Given the description of an element on the screen output the (x, y) to click on. 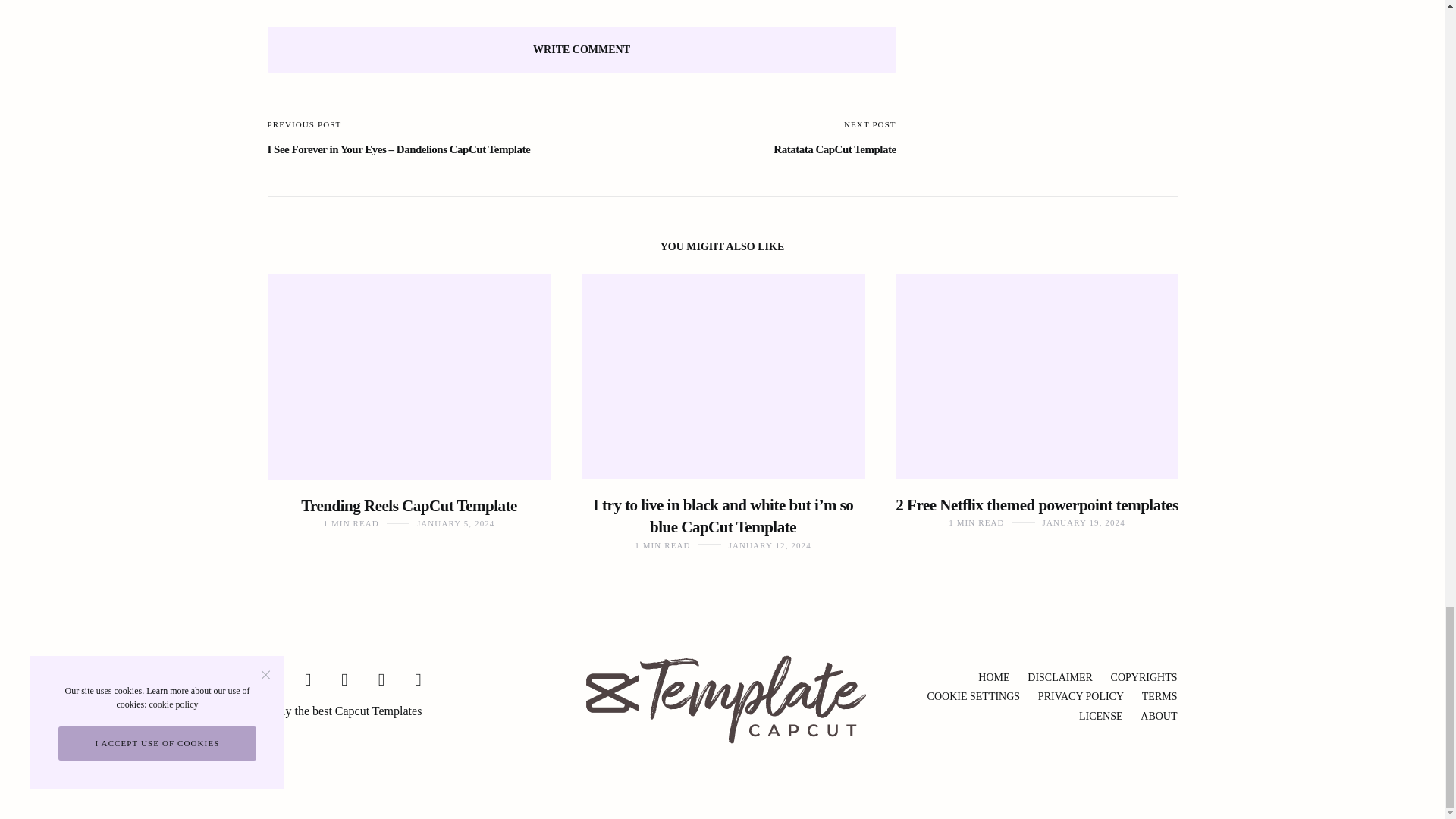
WRITE COMMENT (580, 49)
